Given the description of an element on the screen output the (x, y) to click on. 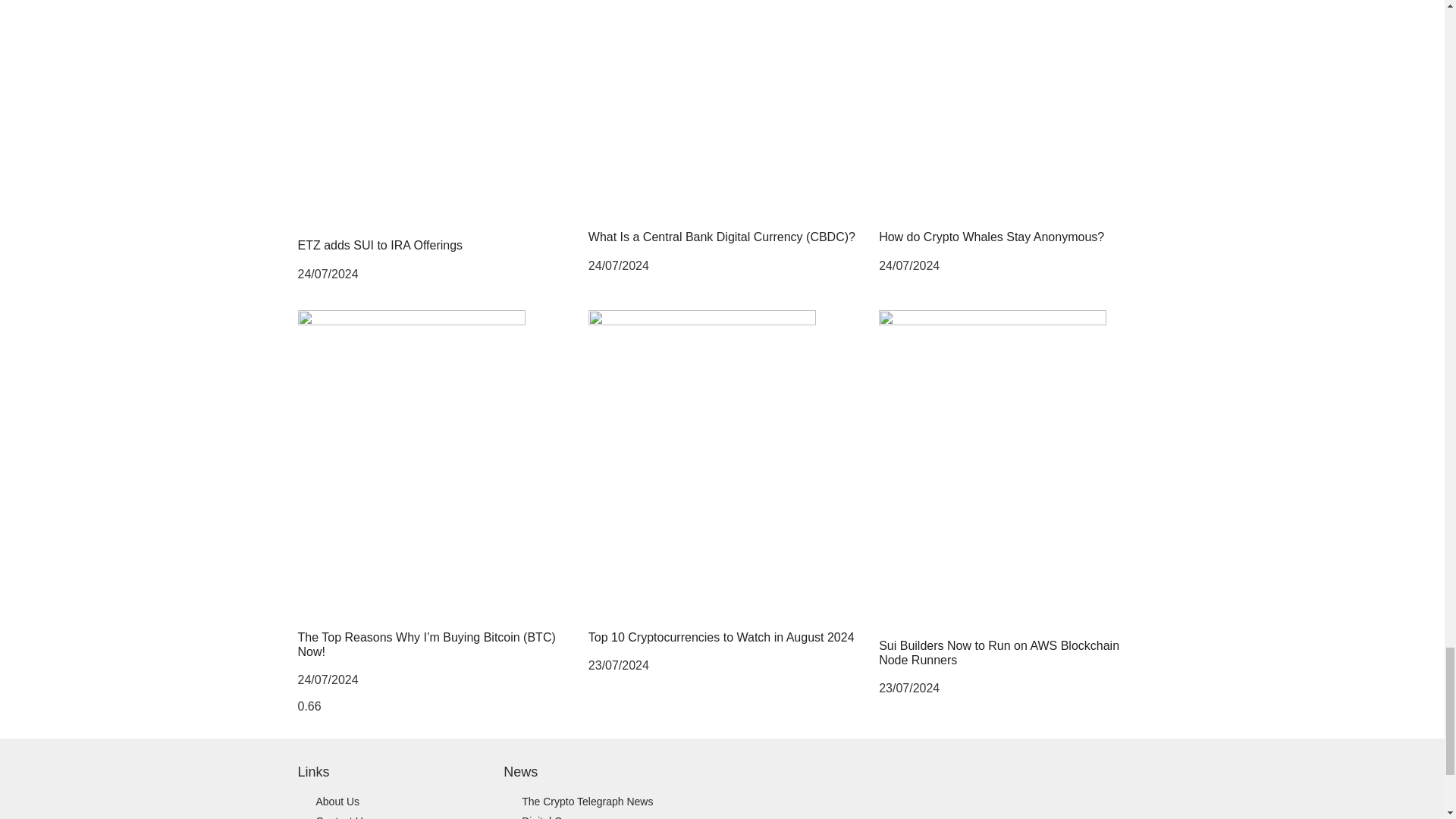
ETZ adds SUI to IRA Offerings (380, 245)
